Given the description of an element on the screen output the (x, y) to click on. 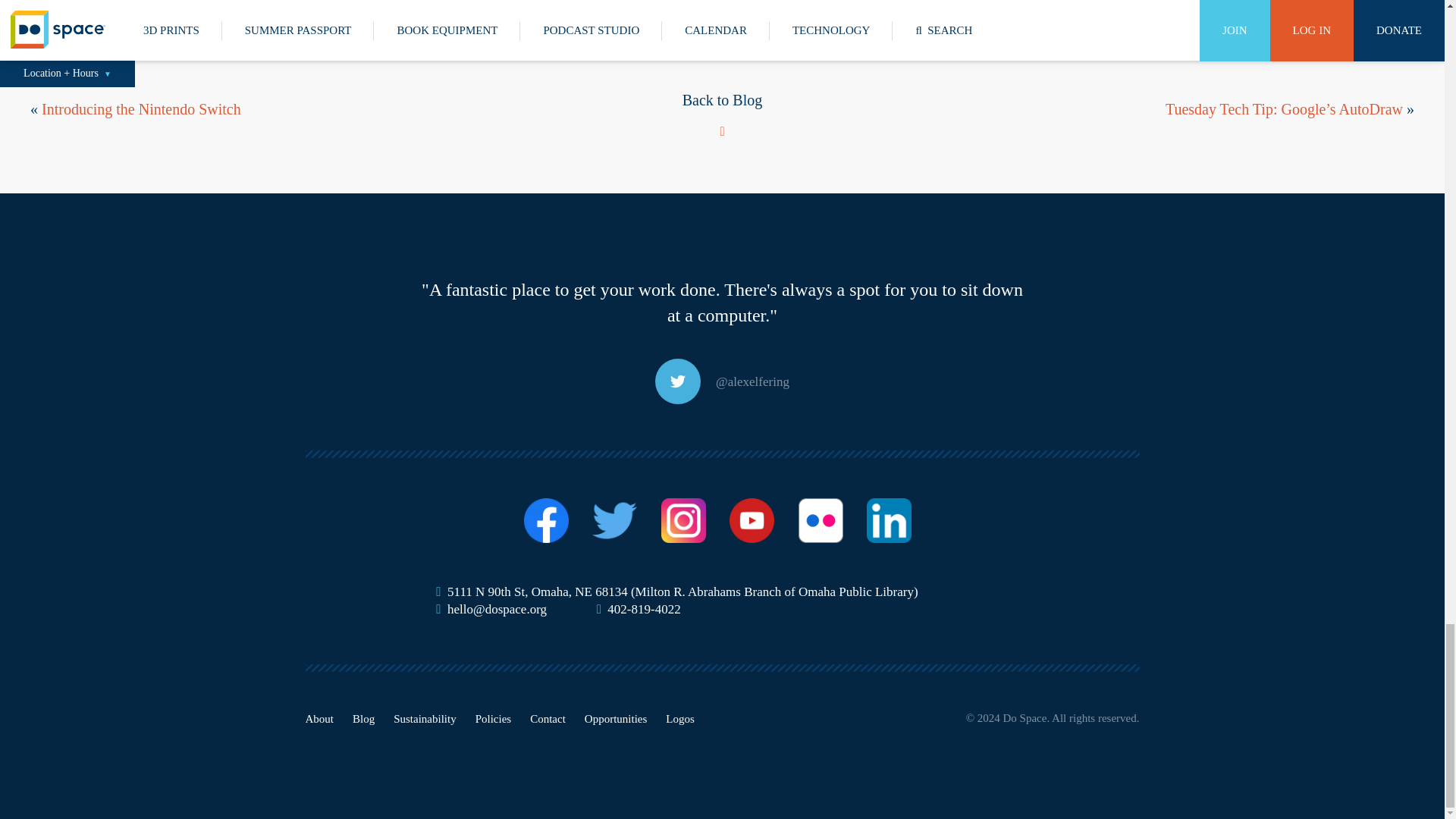
Sustainability (425, 718)
Policies (494, 718)
Back to Blog (722, 113)
About (318, 718)
Contact (547, 718)
Blog (363, 718)
Introducing the Nintendo Switch (141, 108)
Opportunities (616, 718)
